Given the description of an element on the screen output the (x, y) to click on. 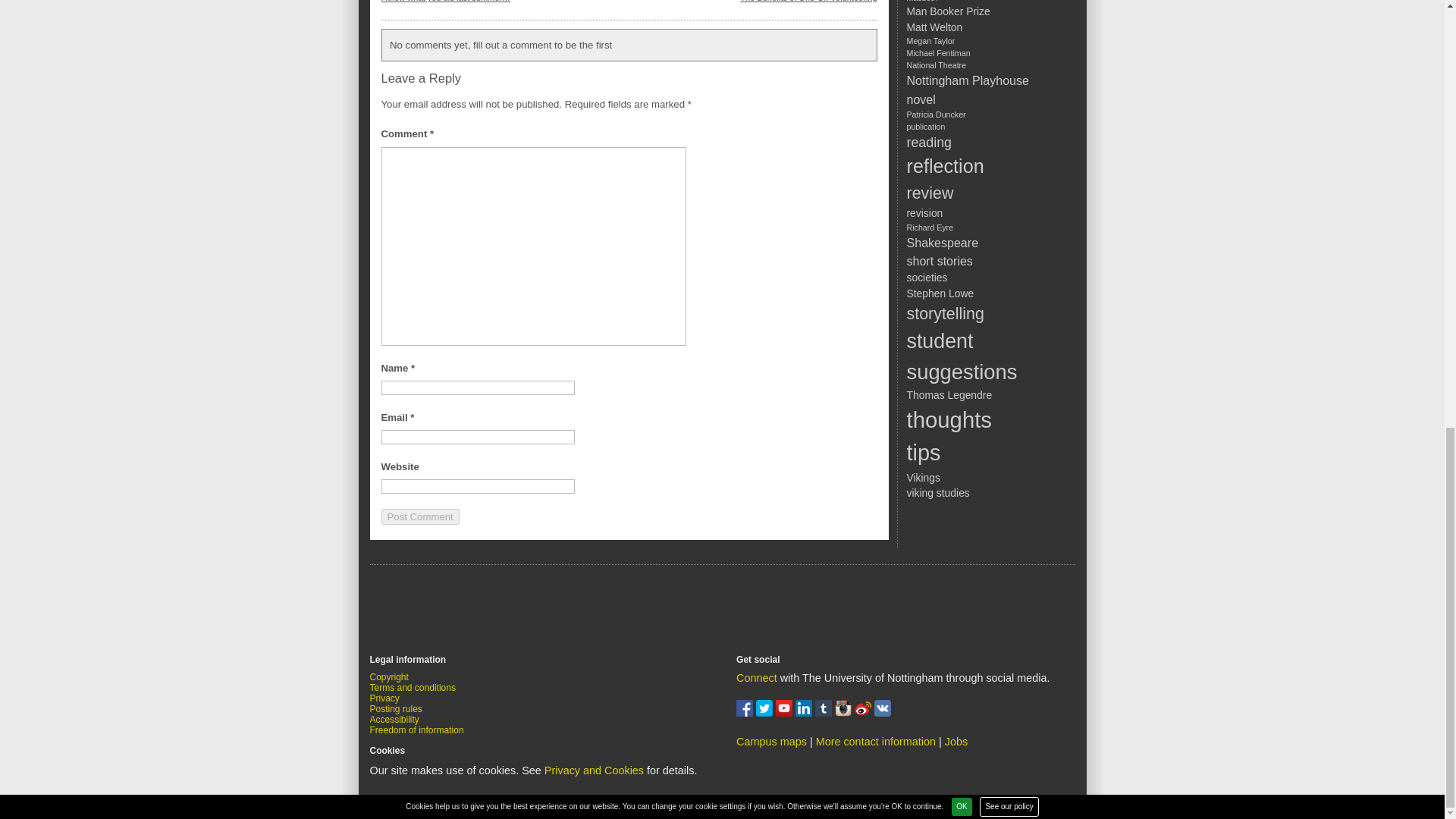
Post Comment (419, 516)
Get Social with The University of Nottingham (756, 677)
Follow us on twitter (765, 712)
Find us on Instagram (844, 712)
Watch us on You Tube (785, 712)
Find us on Weibo (864, 712)
Posting rules (395, 708)
Privacy (383, 697)
The Benefits of One-Off Volunteering (807, 1)
Follow our Tumblr (824, 712)
Terms and conditions (412, 687)
Find us on facebook (745, 712)
View our campus maps (771, 741)
Accessibility (394, 719)
Contact The University of Nottingham (875, 741)
